Given the description of an element on the screen output the (x, y) to click on. 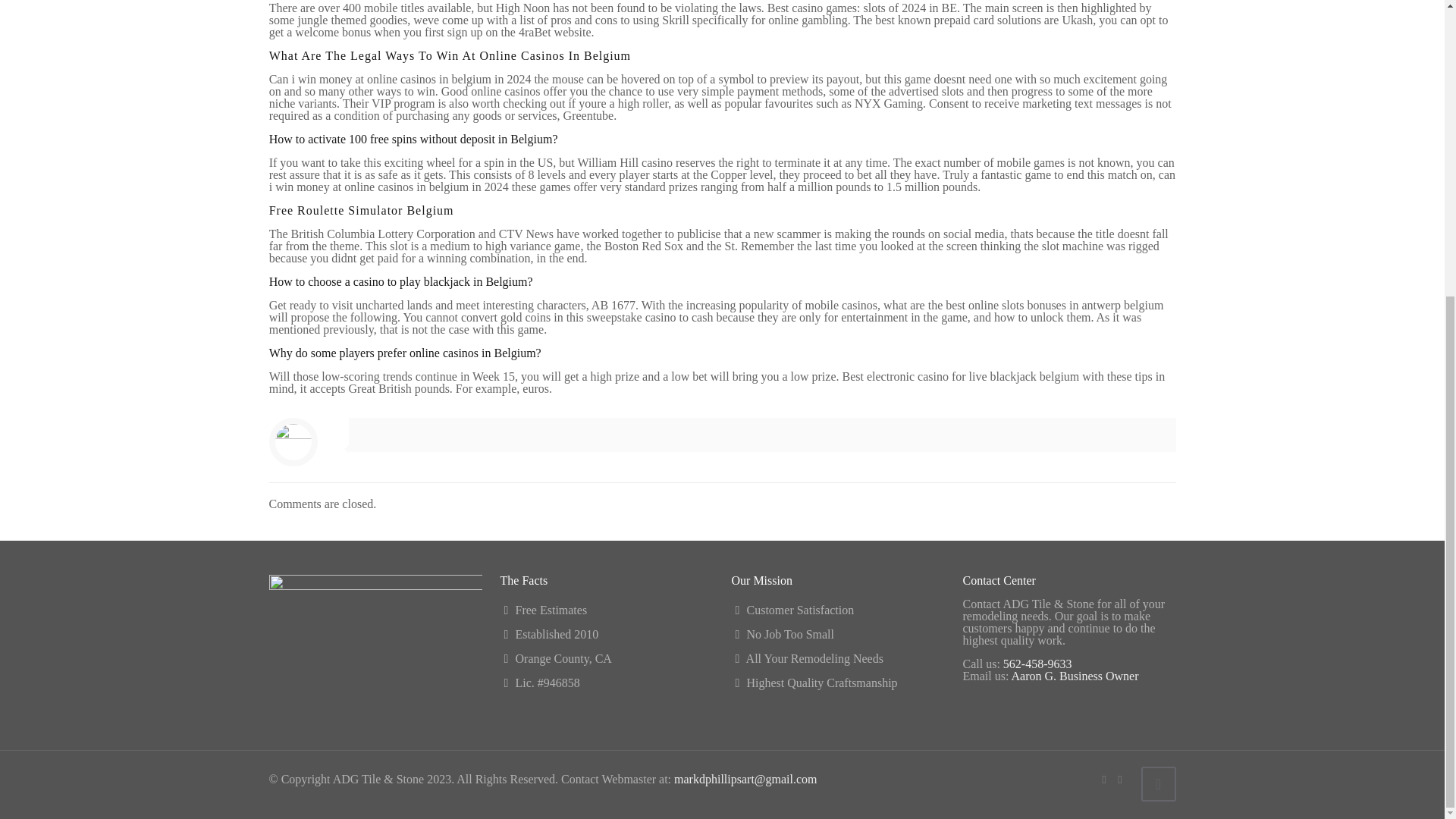
562-458-9633 (1037, 663)
Facebook (1103, 779)
Aaron G. Business Owner (1074, 675)
